Given the description of an element on the screen output the (x, y) to click on. 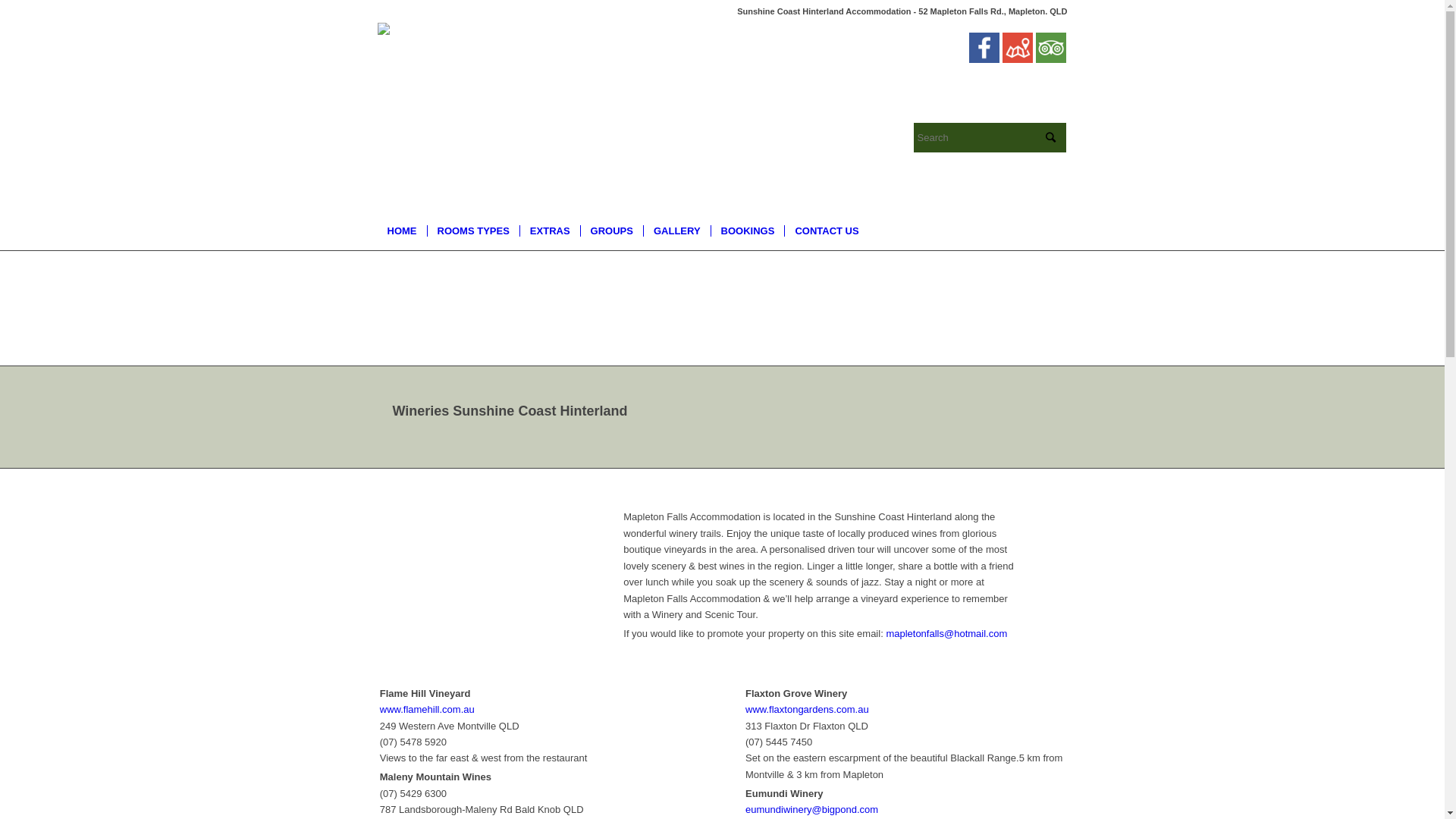
www.flaxtongardens.com.au Element type: text (807, 709)
HOME Element type: text (401, 231)
GROUPS Element type: text (611, 231)
eumundiwinery@bigpond.com Element type: text (811, 809)
ROOMS TYPES Element type: text (472, 231)
GALLERY Element type: text (676, 231)
CONTACT US Element type: text (826, 231)
mapletonfalls@hotmail.com Element type: text (946, 633)
BOOKINGS Element type: text (747, 231)
EXTRAS Element type: text (549, 231)
www.flamehill.com.au Element type: text (426, 709)
